Given the description of an element on the screen output the (x, y) to click on. 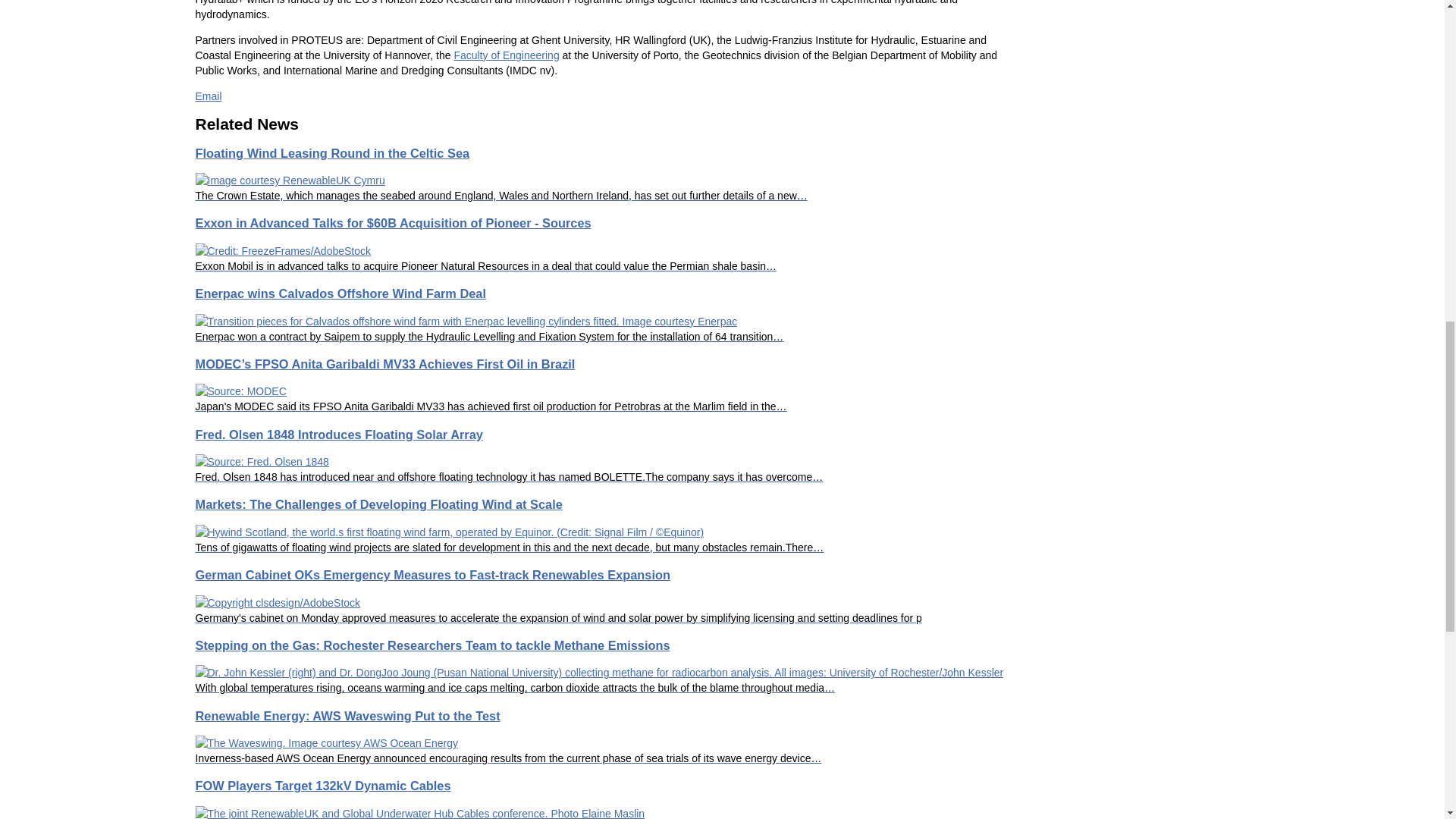
Email (208, 96)
Faculty of Engineering (505, 55)
